Given the description of an element on the screen output the (x, y) to click on. 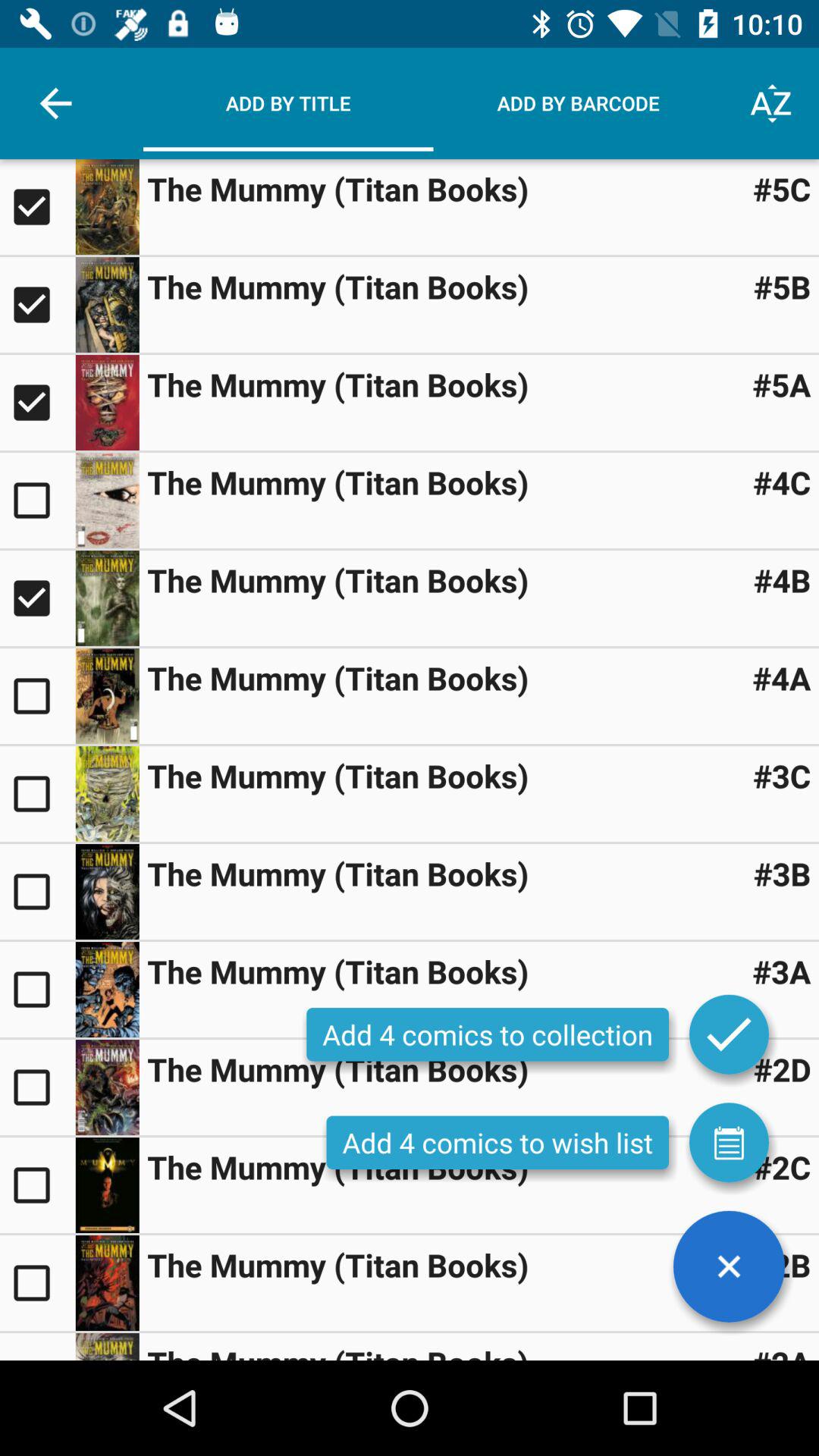
view book (107, 793)
